Given the description of an element on the screen output the (x, y) to click on. 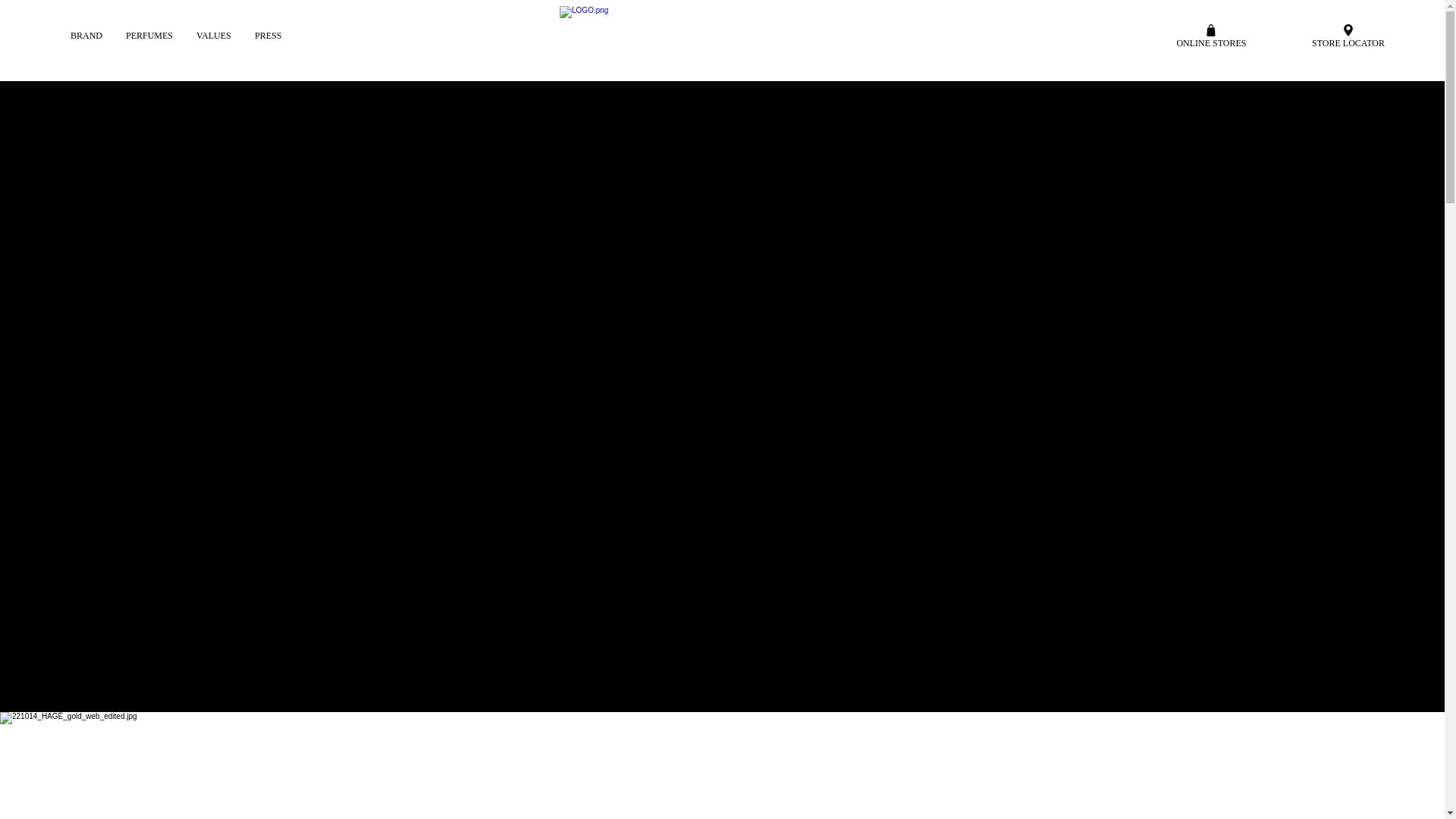
PRESS (267, 35)
STORE LOCATOR (1347, 35)
VALUES (213, 35)
ONLINE STORES (1211, 35)
BRAND (87, 35)
PERFUMES (149, 35)
